Given the description of an element on the screen output the (x, y) to click on. 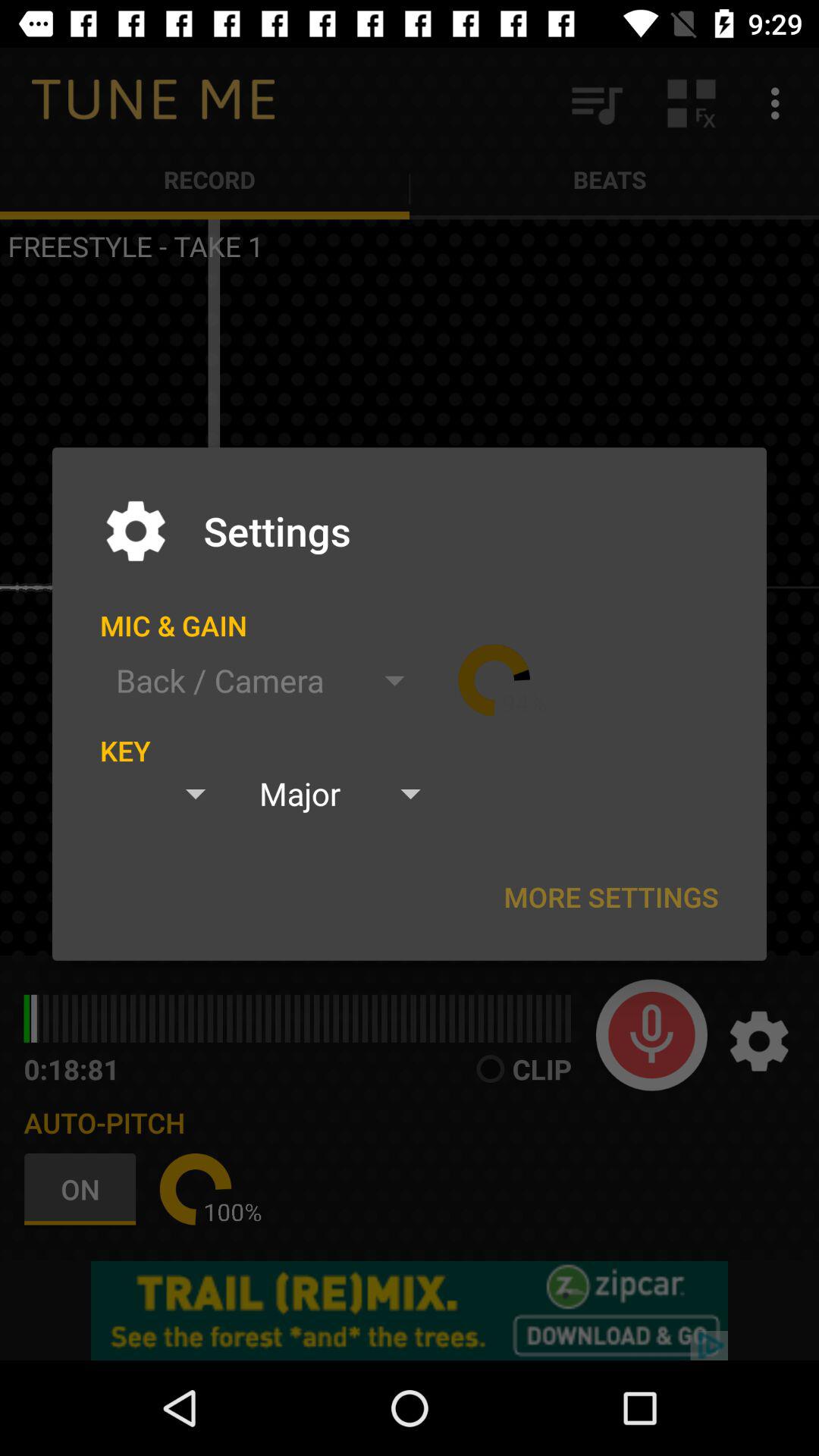
turn off icon next to on (195, 1189)
